Given the description of an element on the screen output the (x, y) to click on. 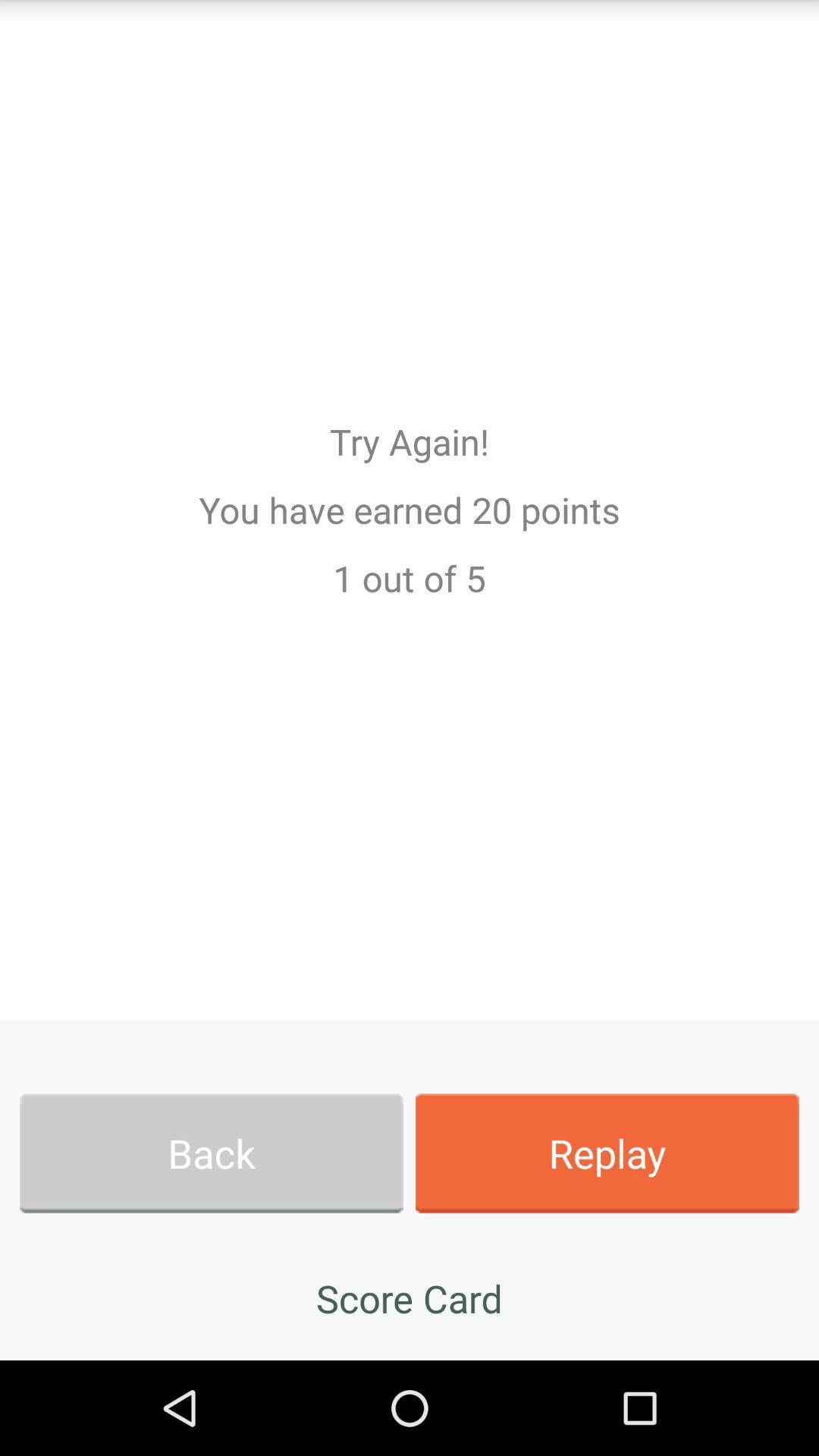
click the icon next to back app (607, 1153)
